Given the description of an element on the screen output the (x, y) to click on. 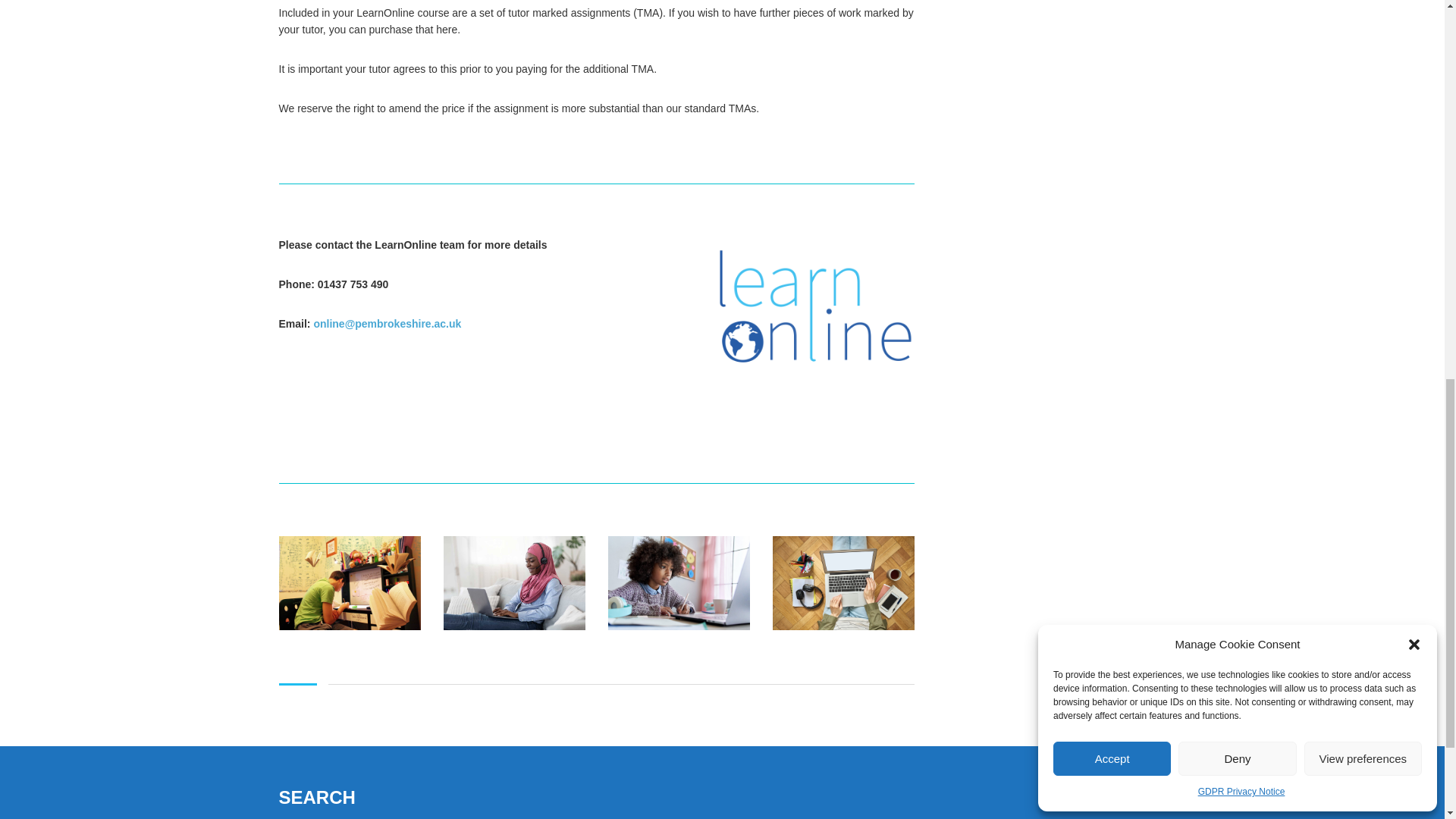
LearnOnline logo (815, 305)
A-levels-2021 (513, 583)
LearnOnline Exams (349, 583)
Choose your IGCSEs (678, 583)
